Given the description of an element on the screen output the (x, y) to click on. 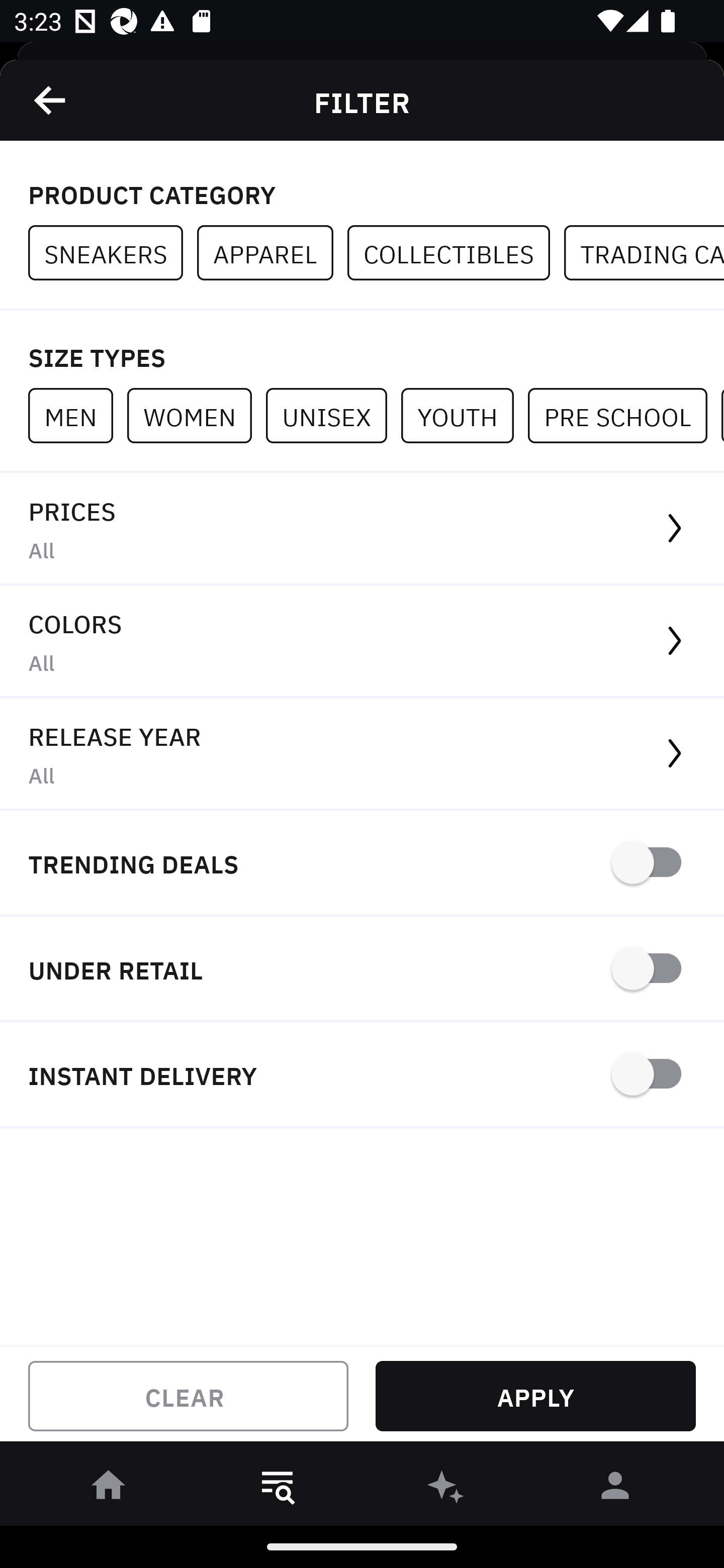
 (50, 100)
SNEAKERS (112, 252)
APPAREL (271, 252)
COLLECTIBLES (455, 252)
TRADING CARDS (643, 252)
MEN (77, 415)
WOMEN (196, 415)
UNISEX (333, 415)
YOUTH (464, 415)
PRE SCHOOL (624, 415)
PRICES All (362, 528)
COLORS All (362, 640)
RELEASE YEAR All (362, 753)
TRENDING DEALS (362, 863)
UNDER RETAIL (362, 969)
INSTANT DELIVERY (362, 1075)
CLEAR  (188, 1396)
APPLY (535, 1396)
󰋜 (108, 1488)
󱎸 (277, 1488)
󰫢 (446, 1488)
󰀄 (615, 1488)
